Given the description of an element on the screen output the (x, y) to click on. 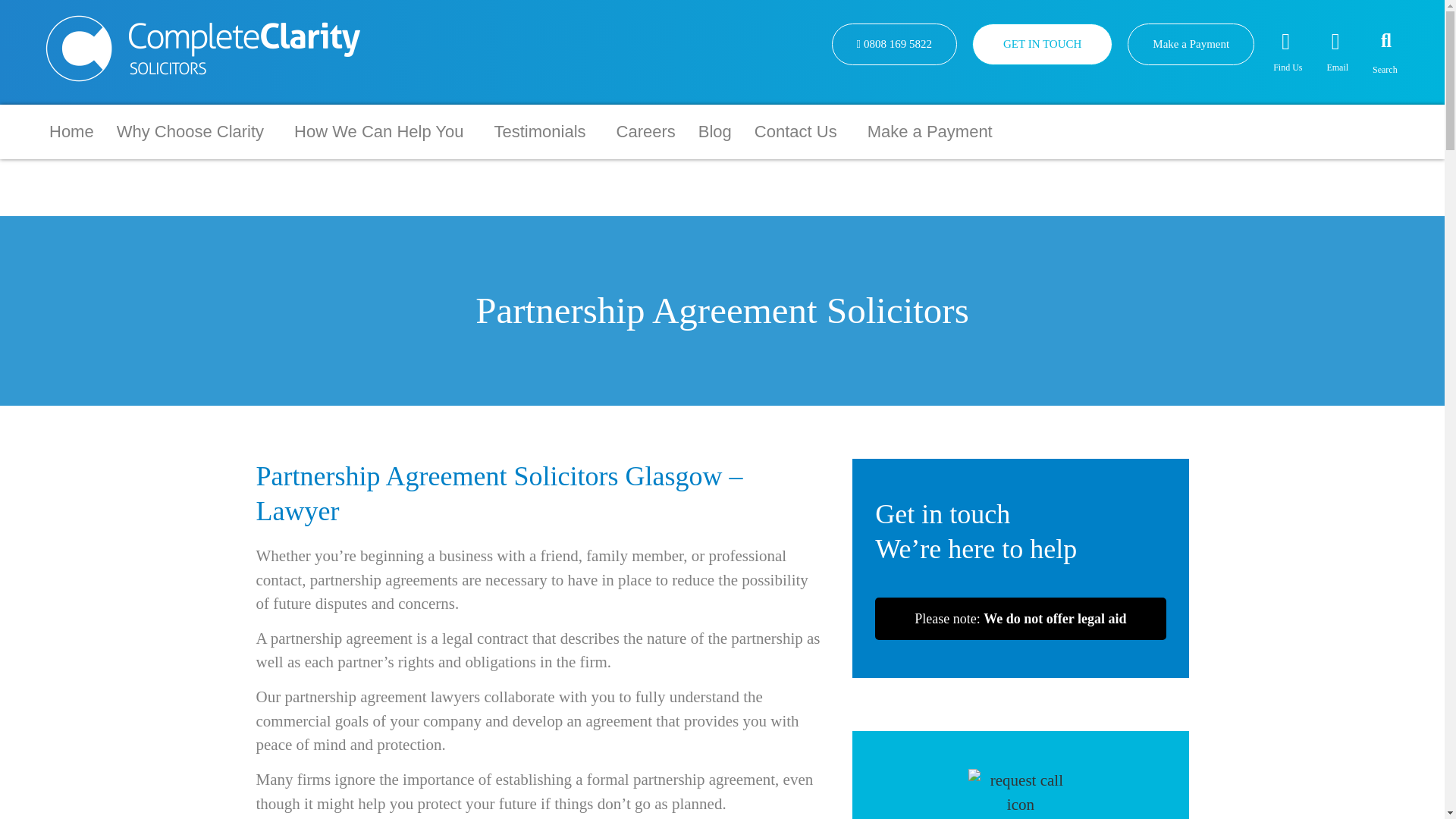
Home (70, 131)
0808 169 5822 (893, 43)
GET IN TOUCH (1042, 43)
Make a Payment (1189, 43)
Why Choose Clarity (193, 131)
How We Can Help You (381, 131)
